Given the description of an element on the screen output the (x, y) to click on. 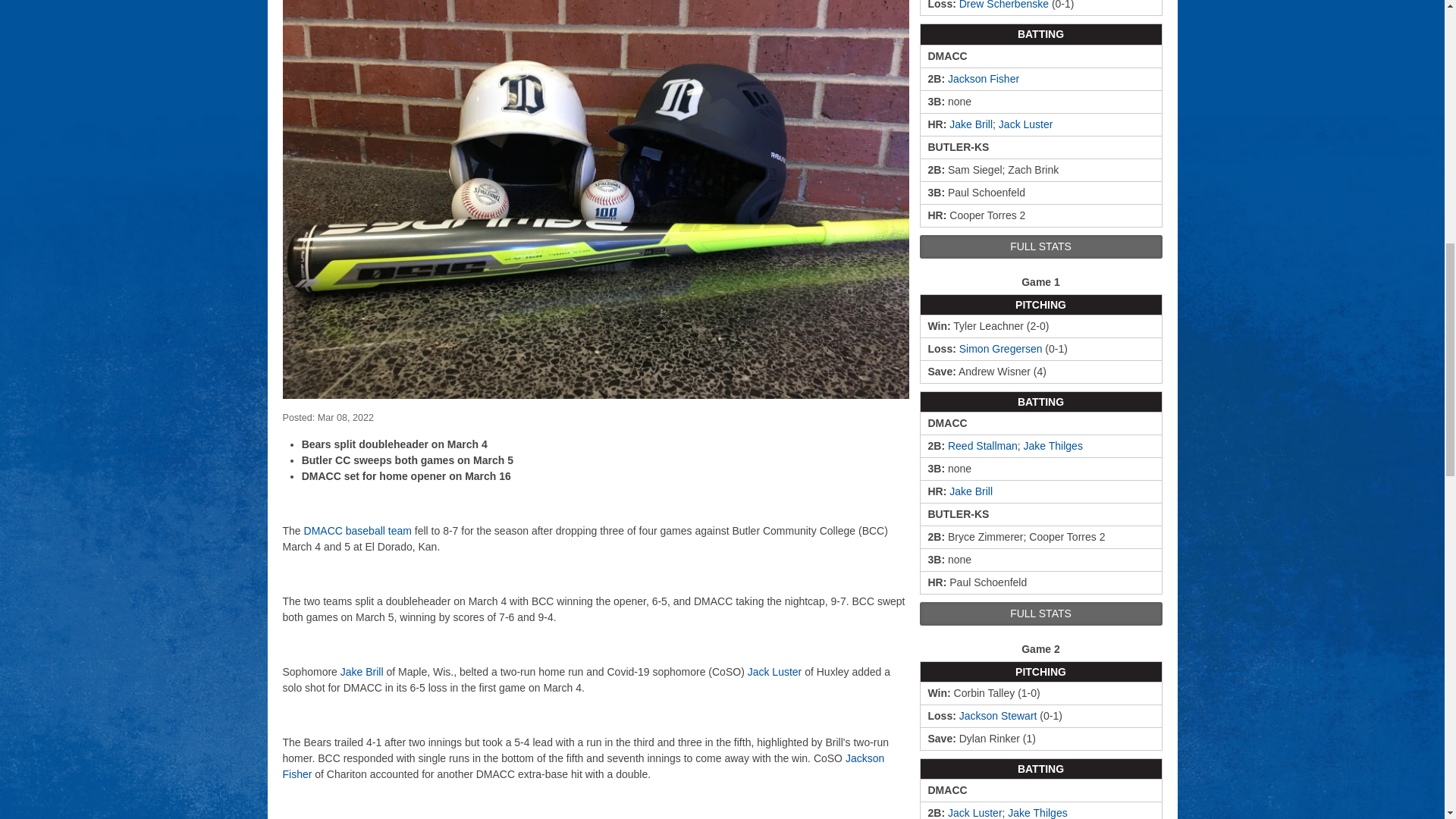
Jake Brill (970, 491)
Drew Scherbenske (1003, 4)
Simon Gregersen (1000, 348)
Jackson Fisher (983, 78)
Reed Stallman (982, 445)
Jack Luster (1025, 123)
Jake Brill (970, 123)
Jack Luster (975, 812)
Jake Thilges (1053, 445)
Jackson Stewart (997, 715)
